Given the description of an element on the screen output the (x, y) to click on. 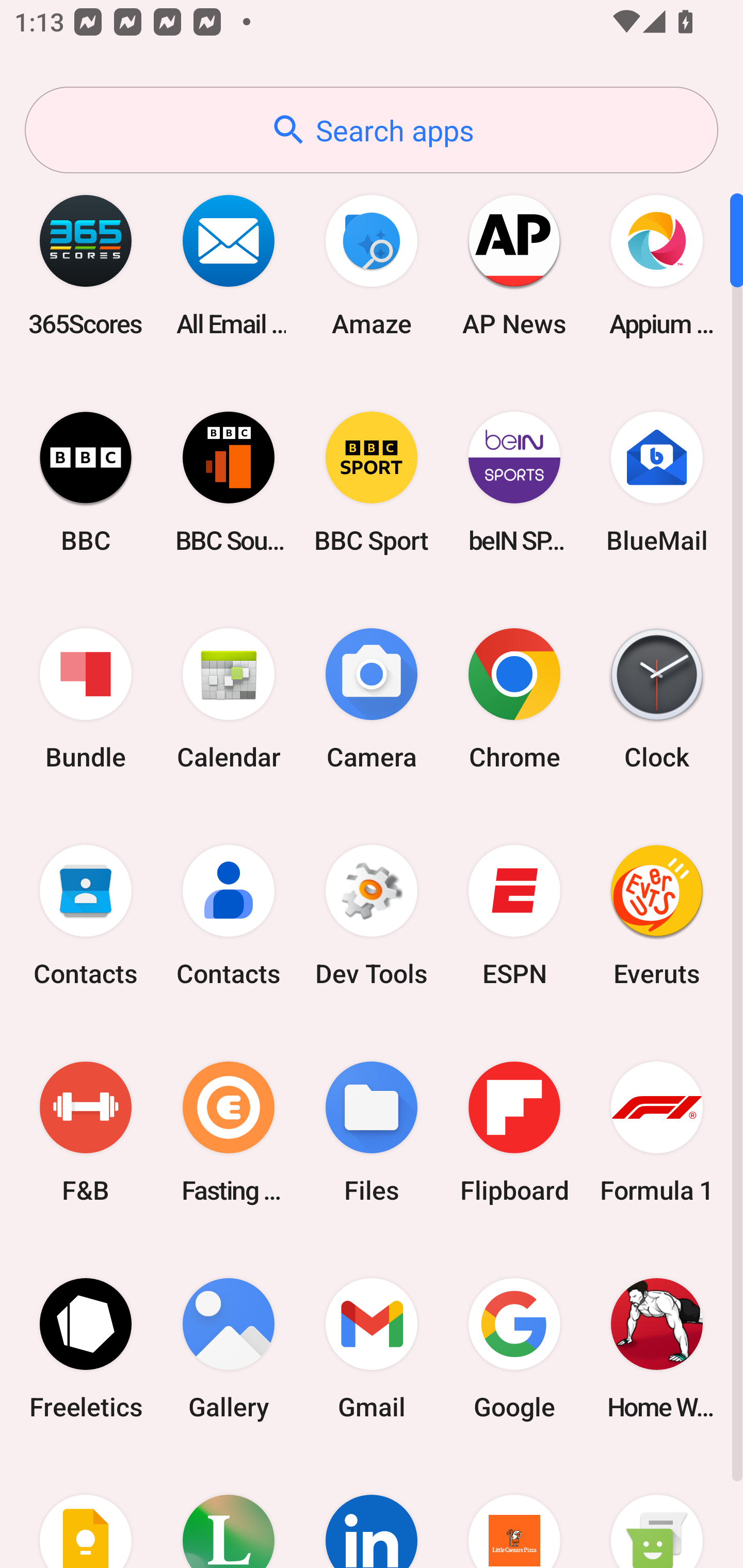
  Search apps (371, 130)
365Scores (85, 264)
All Email Connect (228, 264)
Amaze (371, 264)
AP News (514, 264)
Appium Settings (656, 264)
BBC (85, 482)
BBC Sounds (228, 482)
BBC Sport (371, 482)
beIN SPORTS (514, 482)
BlueMail (656, 482)
Bundle (85, 699)
Calendar (228, 699)
Camera (371, 699)
Chrome (514, 699)
Clock (656, 699)
Contacts (85, 915)
Contacts (228, 915)
Dev Tools (371, 915)
ESPN (514, 915)
Everuts (656, 915)
F&B (85, 1131)
Fasting Coach (228, 1131)
Files (371, 1131)
Flipboard (514, 1131)
Formula 1 (656, 1131)
Freeletics (85, 1348)
Gallery (228, 1348)
Gmail (371, 1348)
Google (514, 1348)
Home Workout (656, 1348)
Keep Notes (85, 1512)
Lifesum (228, 1512)
LinkedIn (371, 1512)
Little Caesars Pizza (514, 1512)
Messaging (656, 1512)
